Given the description of an element on the screen output the (x, y) to click on. 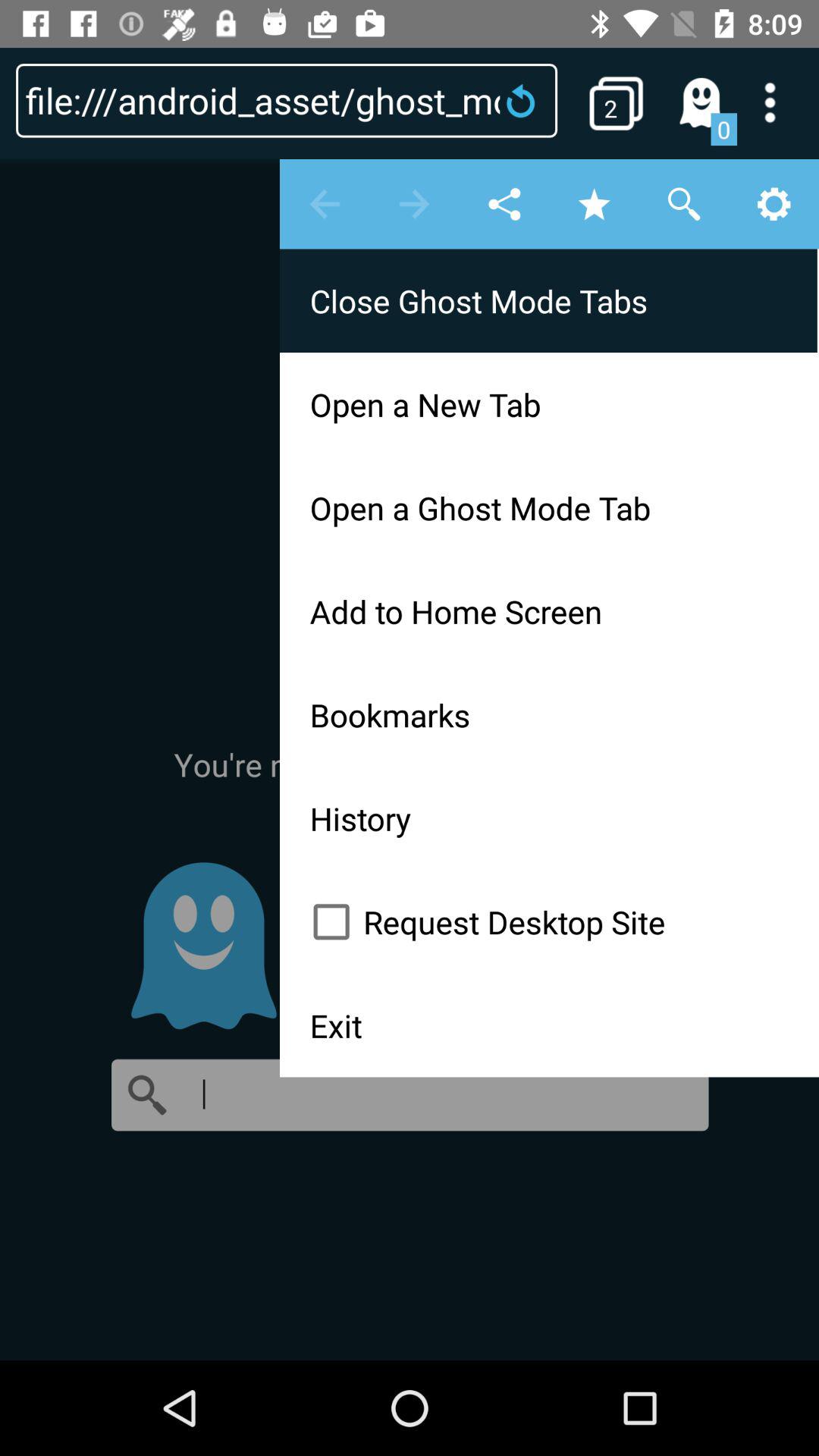
more options (780, 102)
